Given the description of an element on the screen output the (x, y) to click on. 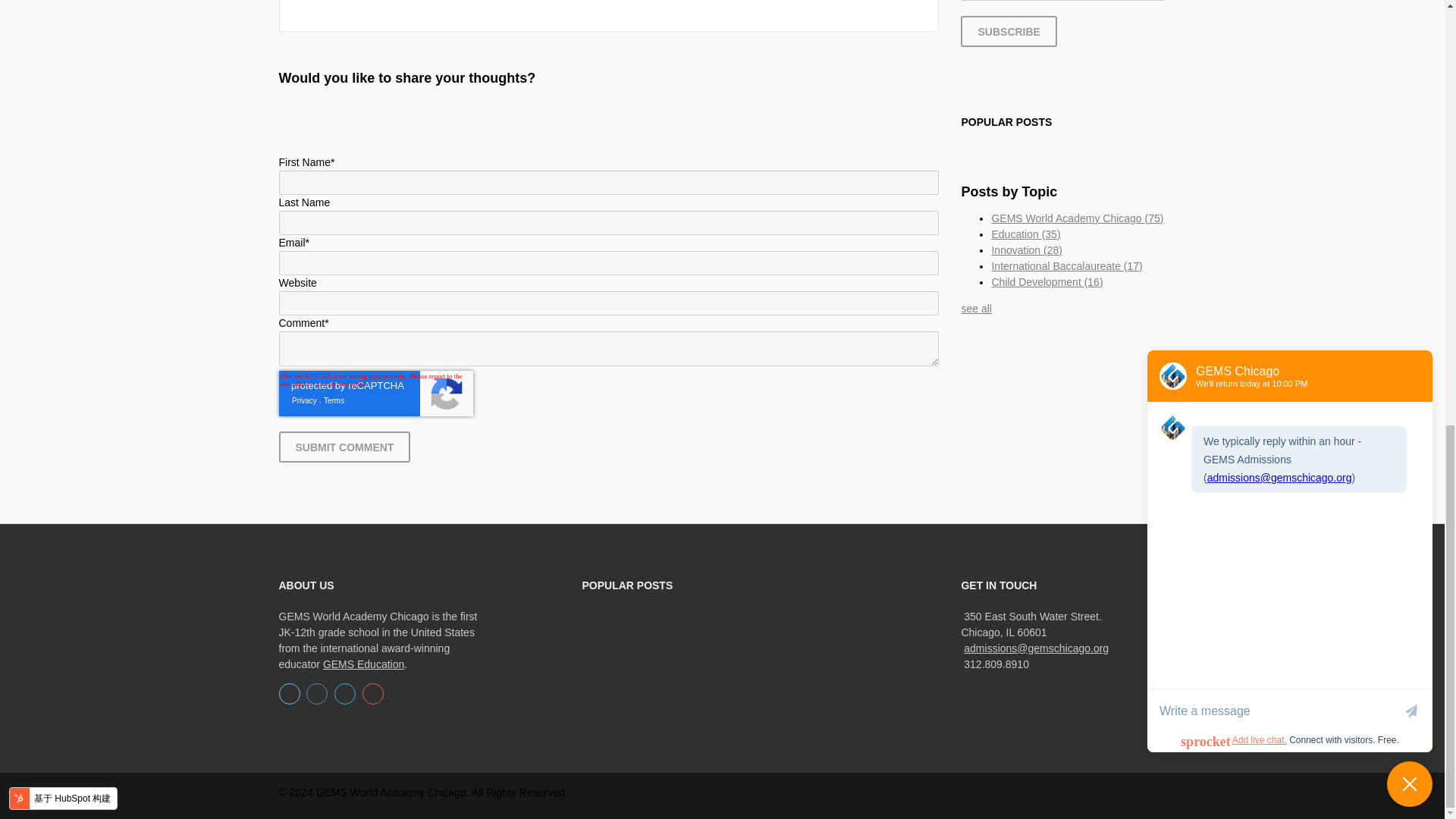
Submit Comment (344, 446)
Subscribe (1008, 30)
reCAPTCHA (376, 393)
Submit Comment (344, 446)
Subscribe (1008, 30)
